Given the description of an element on the screen output the (x, y) to click on. 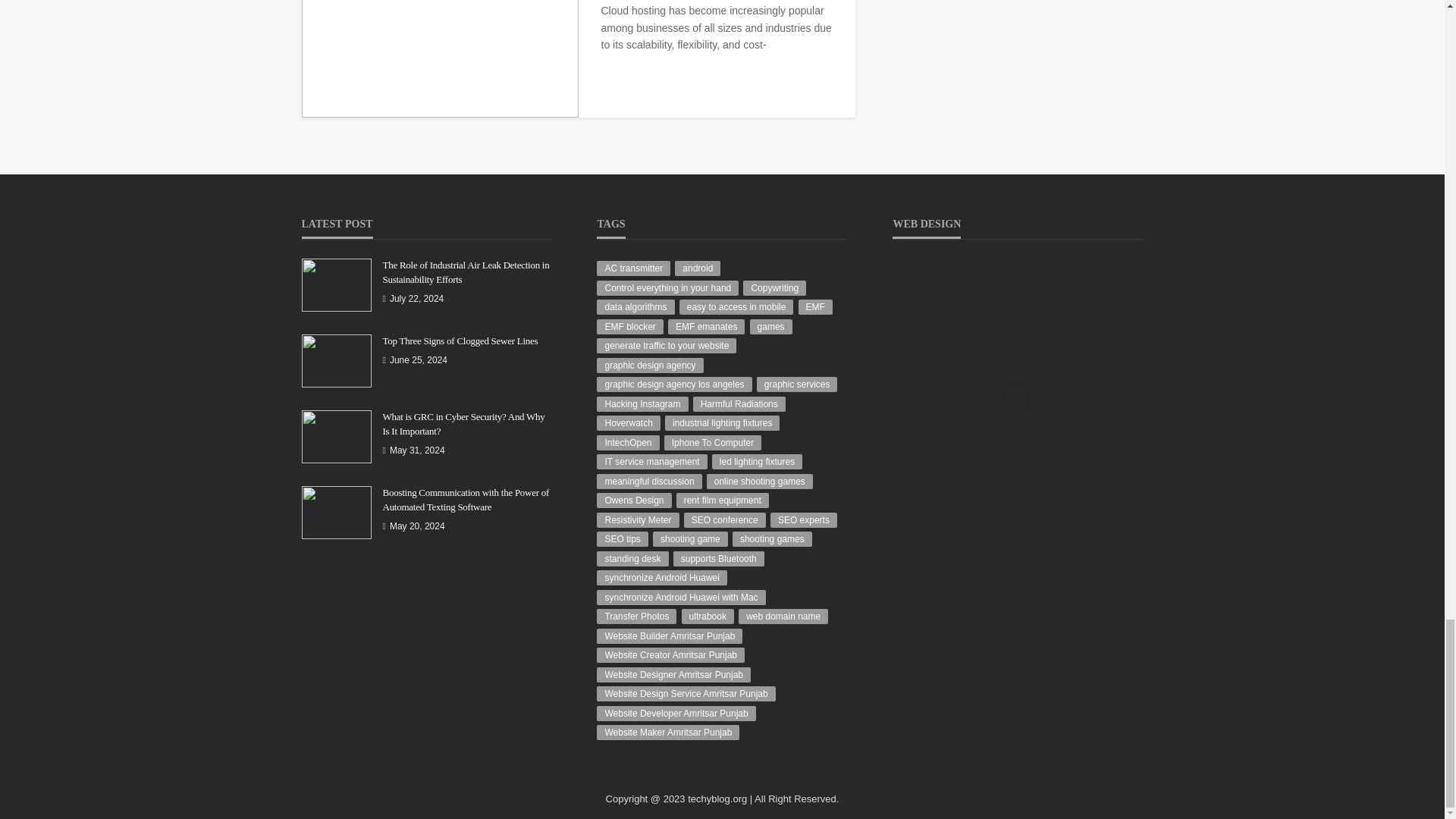
What types of businesses benefit most from cloud hosting? (439, 58)
